Given the description of an element on the screen output the (x, y) to click on. 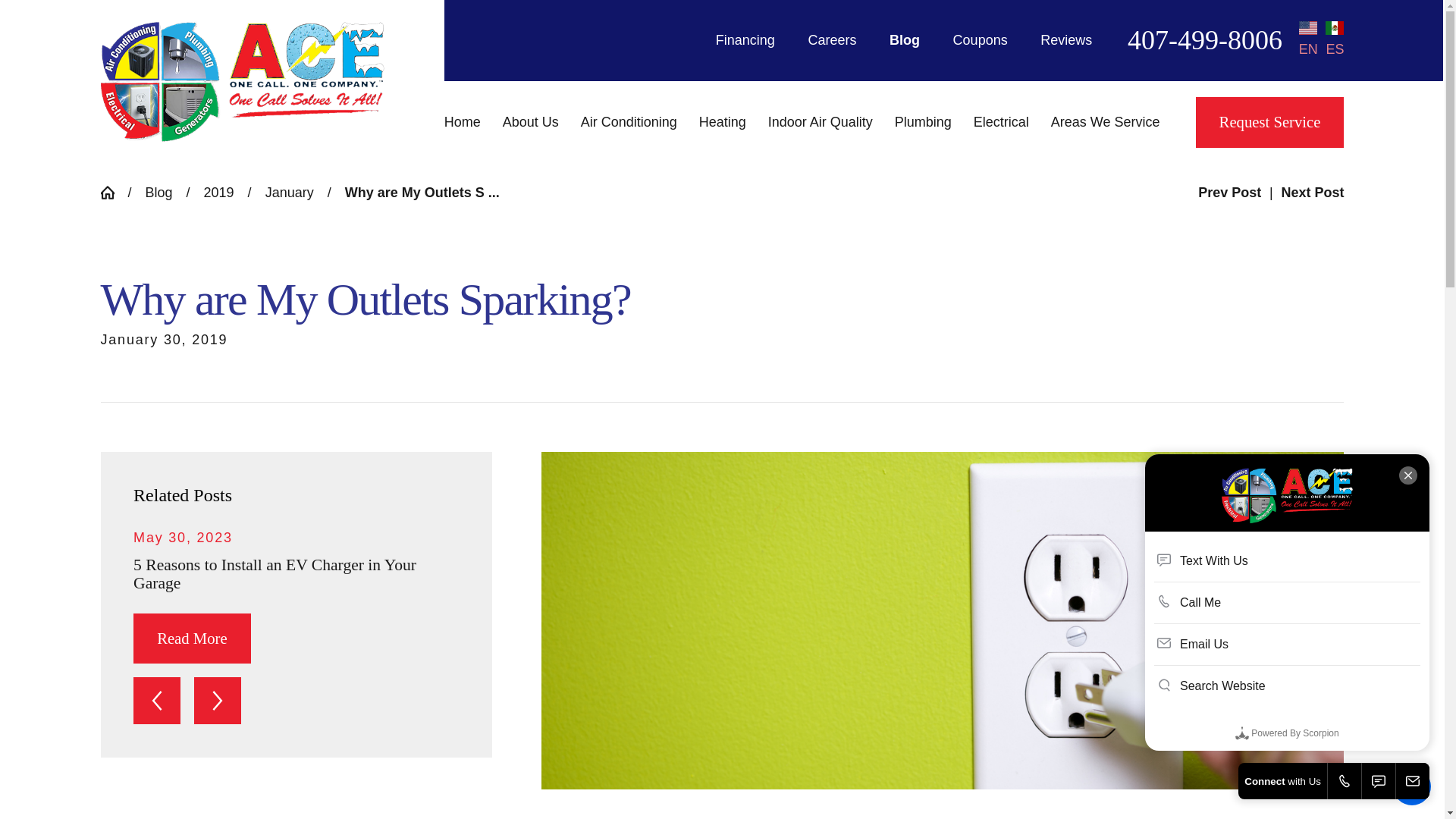
Financing (745, 39)
Blog (904, 39)
Open the accessibility options menu (1412, 786)
Reviews (1066, 39)
Coupons (980, 39)
Ace Solves It All (242, 81)
View next item (217, 700)
407-499-8006 (1204, 40)
Go Home (114, 192)
Indoor Air Quality (825, 122)
About Us (536, 122)
View previous item (156, 700)
Careers (832, 39)
Air Conditioning (634, 122)
Home (468, 122)
